Given the description of an element on the screen output the (x, y) to click on. 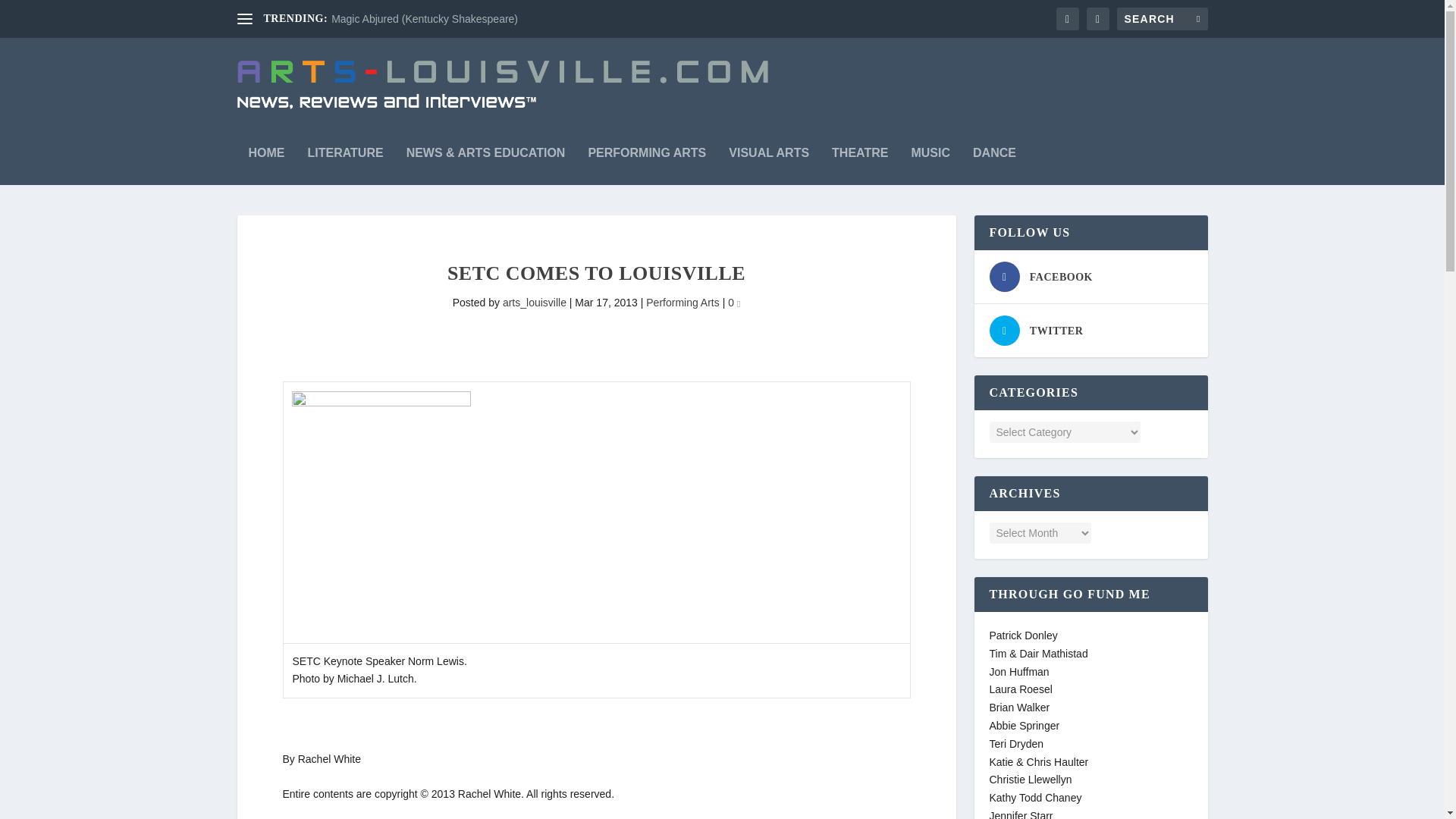
Main page (266, 158)
DANCE (994, 158)
VISUAL ARTS (769, 158)
THEATRE (859, 158)
comment count (737, 303)
HOME (266, 158)
LITERATURE (345, 158)
PERFORMING ARTS (647, 158)
MUSIC (930, 158)
Search for: (1161, 18)
